Given the description of an element on the screen output the (x, y) to click on. 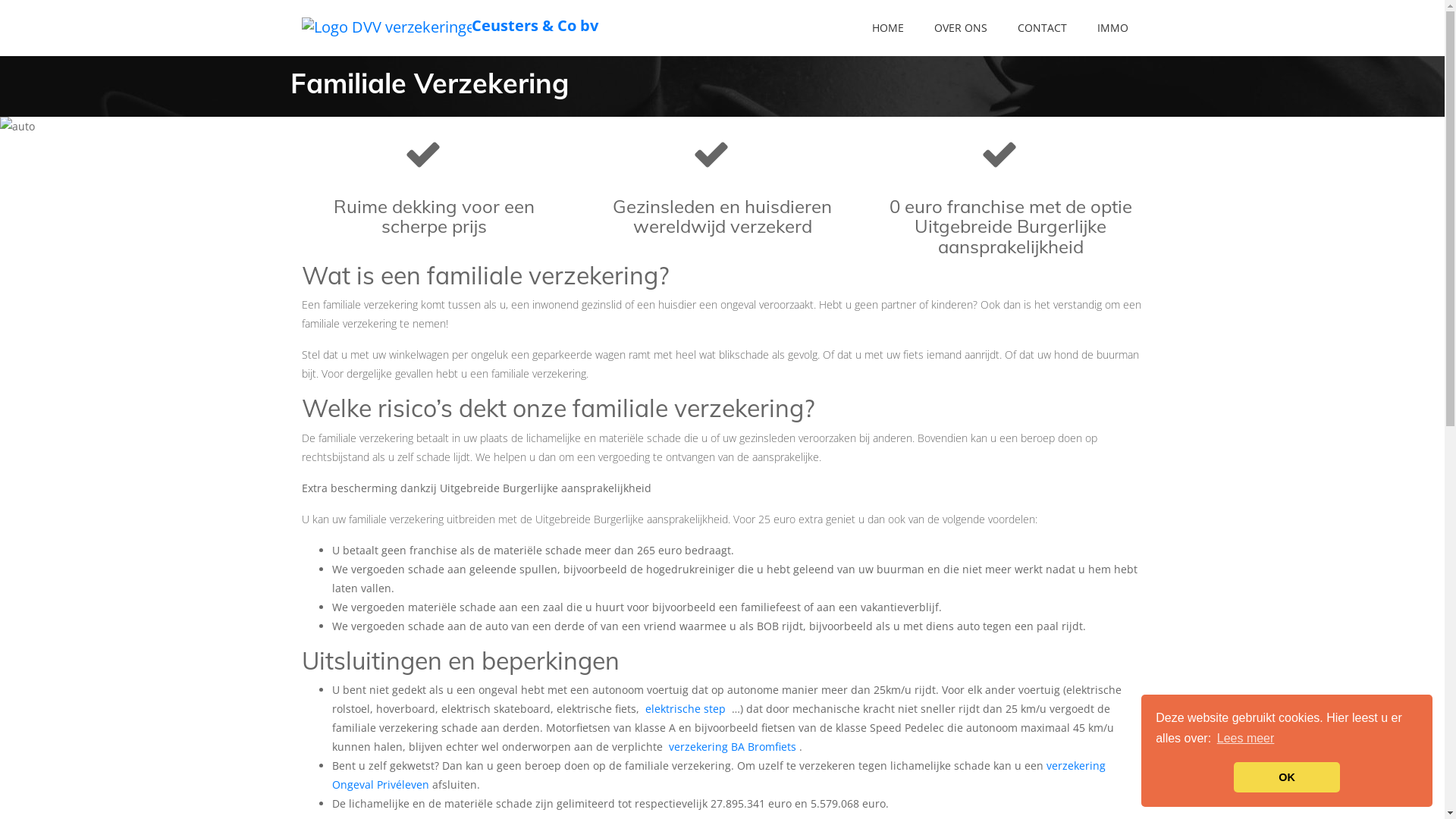
Lees meer Element type: text (1245, 738)
CONTACT Element type: text (1042, 28)
HOME
(HUIDIGE PAGINA) Element type: text (887, 28)
OK Element type: text (1286, 777)
OVER ONS Element type: text (960, 28)
elektrische step Element type: text (686, 708)
Ceusters & Co bv Element type: text (350, 27)
verzekering BA Bromfiets Element type: text (733, 746)
IMMO Element type: text (1111, 28)
